Given the description of an element on the screen output the (x, y) to click on. 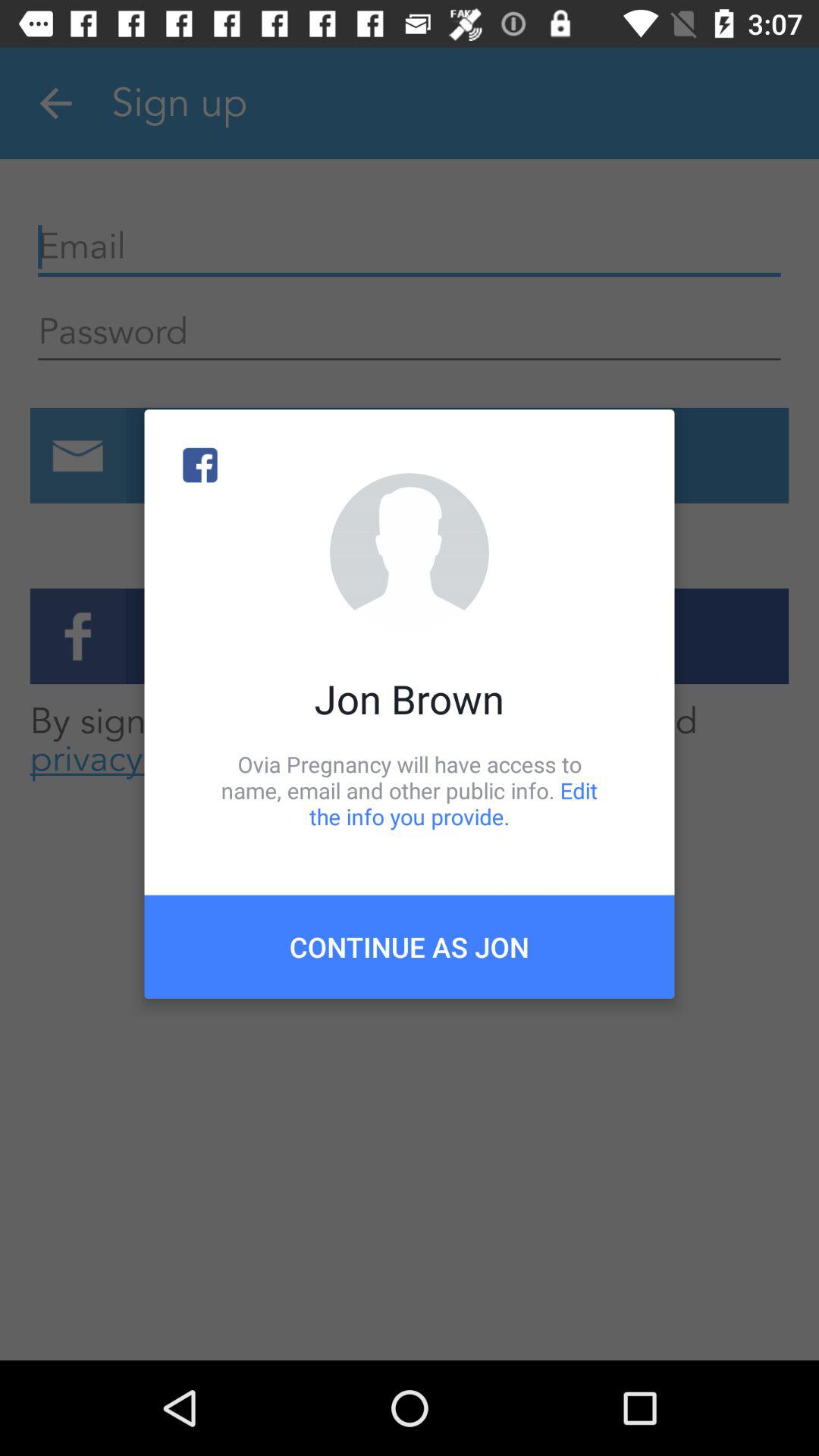
flip until ovia pregnancy will icon (409, 790)
